Given the description of an element on the screen output the (x, y) to click on. 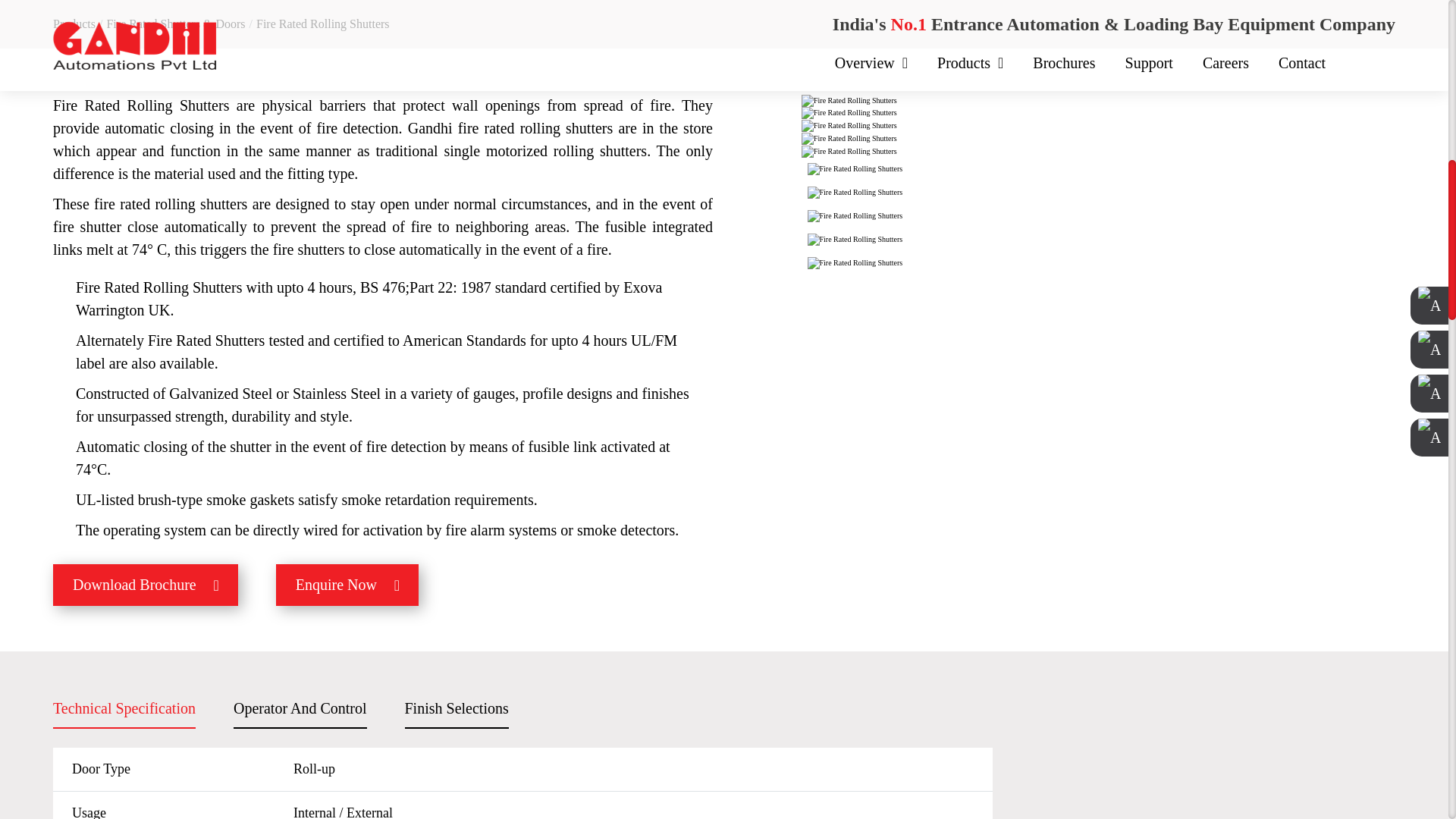
Enquire Now (347, 585)
Products (74, 23)
Download Brochure (145, 585)
